Given the description of an element on the screen output the (x, y) to click on. 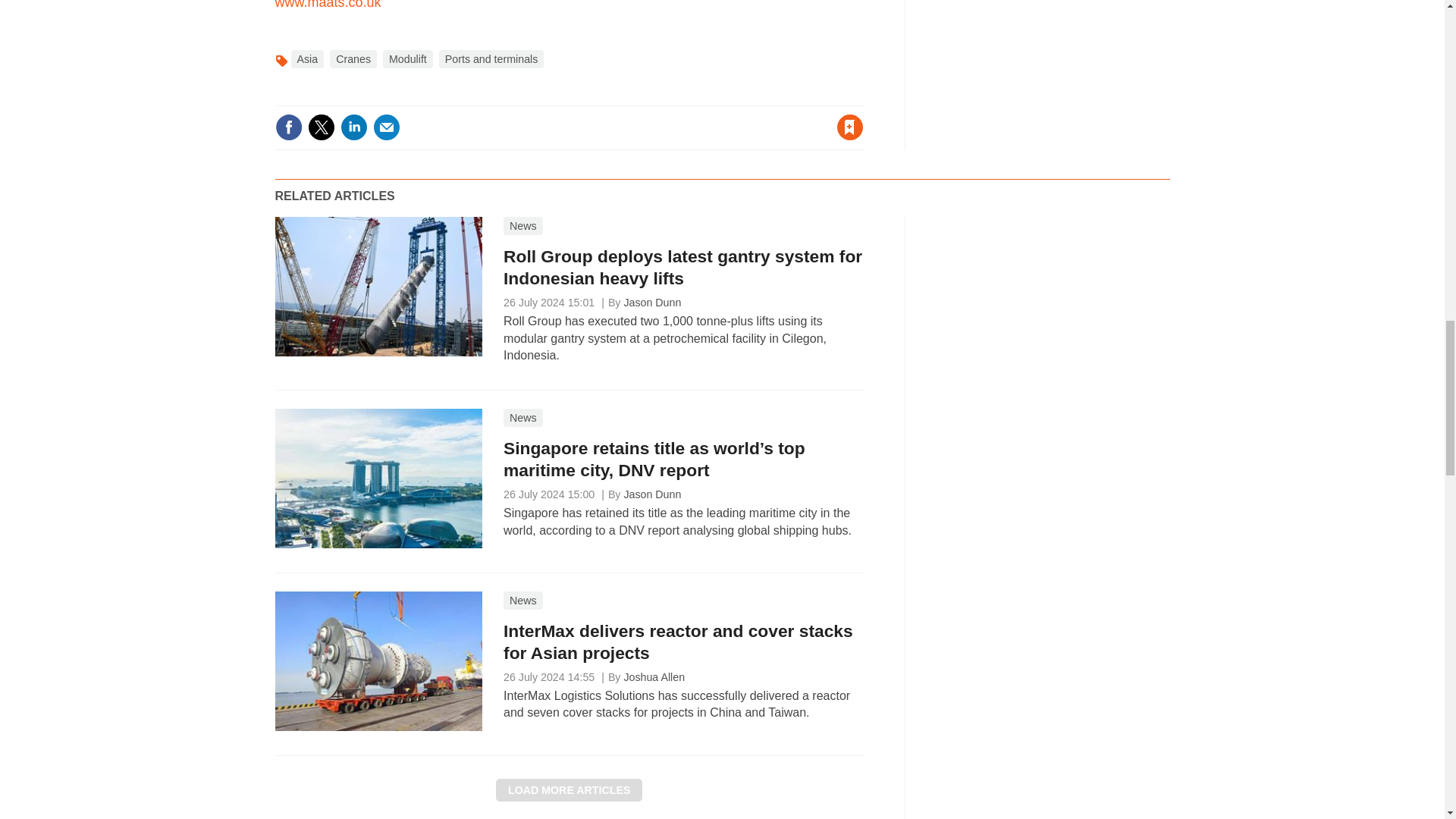
Share this on Twitter (320, 126)
Email this article (386, 126)
Share this on Facebook (288, 126)
Share this on Linked in (352, 126)
